Given the description of an element on the screen output the (x, y) to click on. 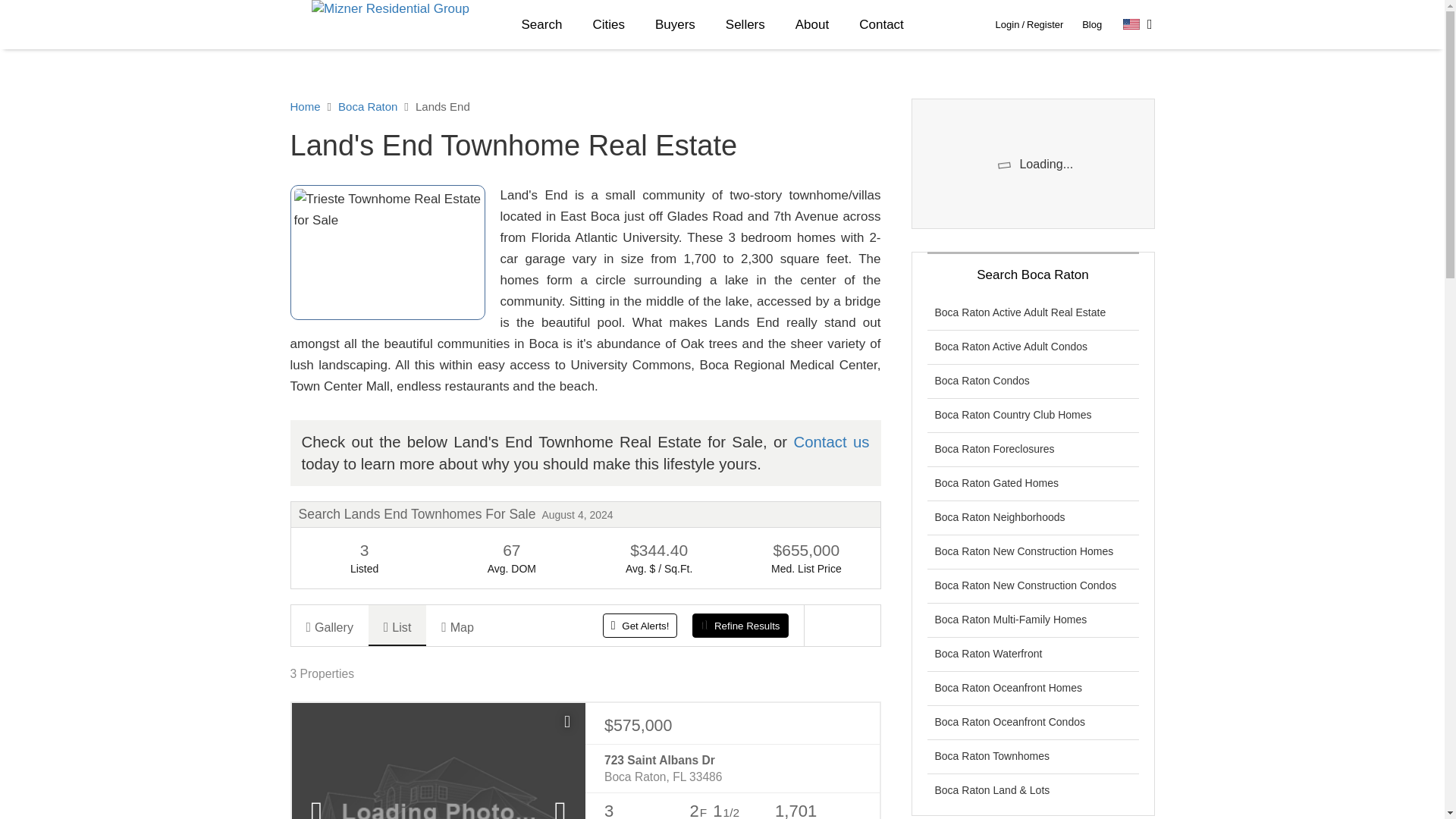
723 Saint Albans Dr Boca Raton,  FL 33486 (732, 769)
Cities (608, 24)
Trieste Townhome Real Estate (386, 252)
Search (542, 24)
Select Language (1137, 24)
